Given the description of an element on the screen output the (x, y) to click on. 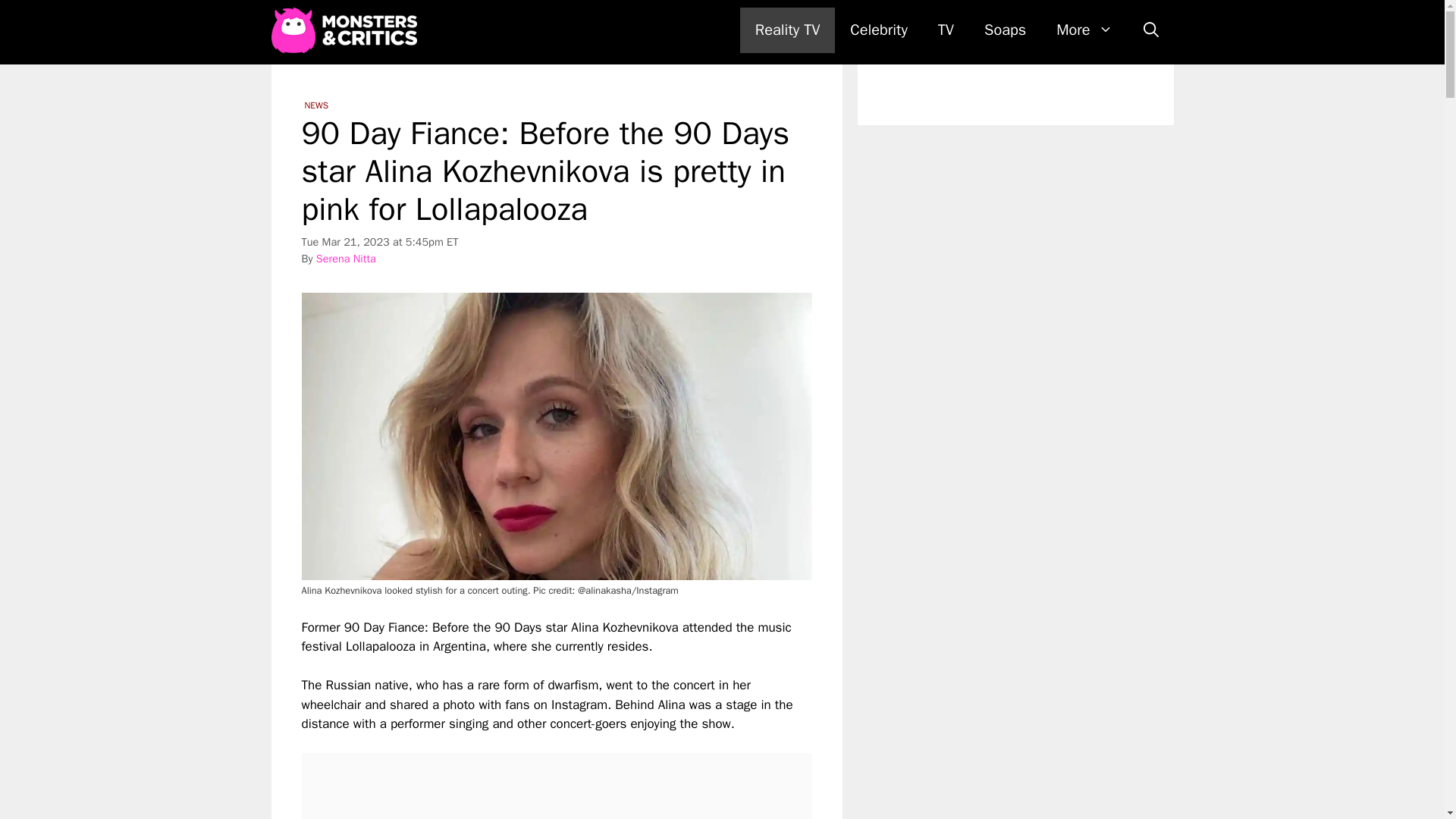
Reality TV (787, 30)
Monsters and Critics (343, 30)
Monsters and Critics (347, 30)
View all posts by Serena Nitta (345, 258)
Soaps (1005, 30)
Serena Nitta (345, 258)
More (1083, 30)
Celebrity (877, 30)
TV (946, 30)
